Given the description of an element on the screen output the (x, y) to click on. 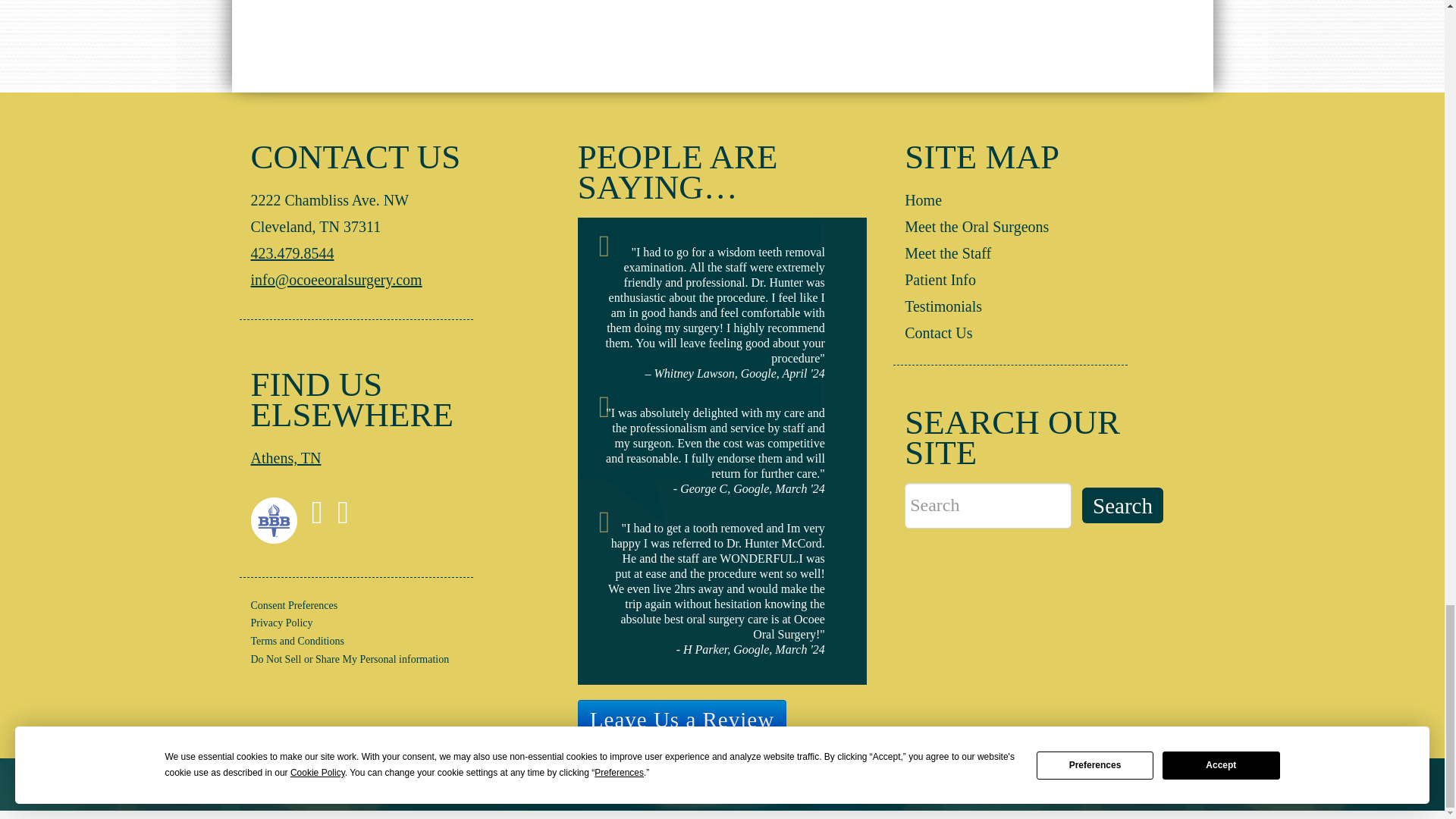
Search (1122, 505)
